Given the description of an element on the screen output the (x, y) to click on. 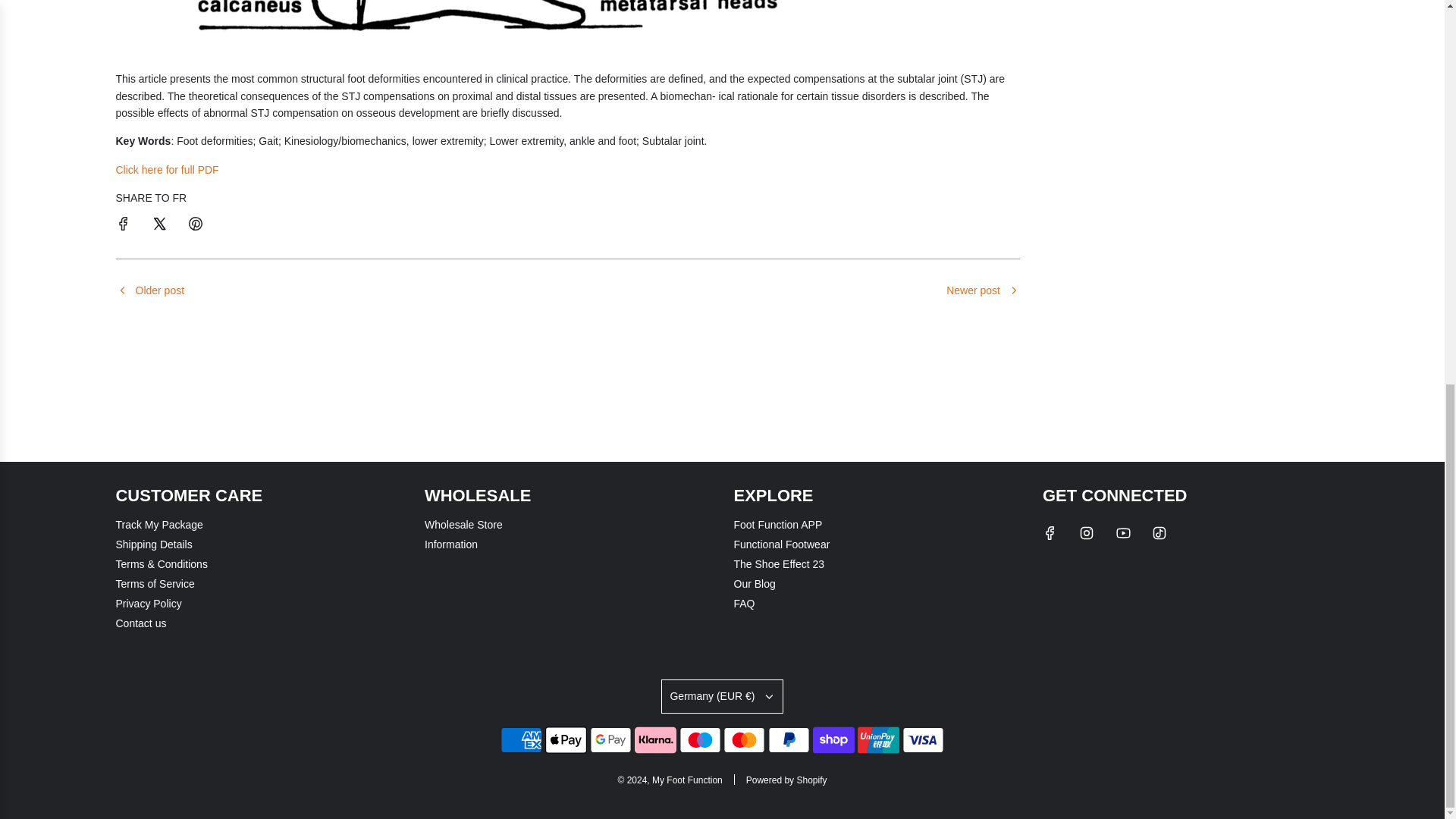
American Express (520, 739)
Apple Pay (565, 739)
Page 1 (567, 109)
Google Pay (610, 739)
